Given the description of an element on the screen output the (x, y) to click on. 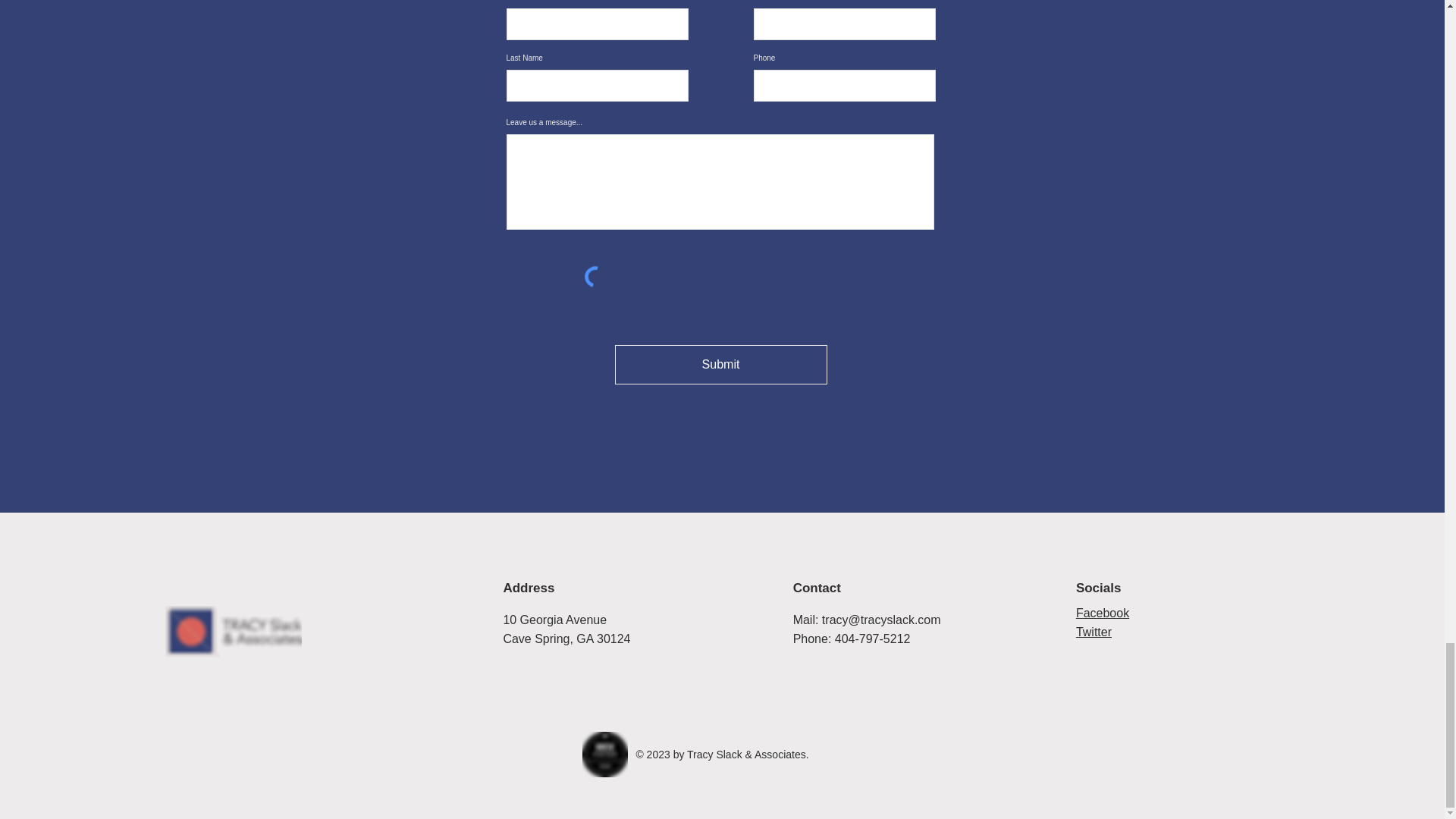
Facebook (1102, 612)
Twitter (1093, 631)
Submit (720, 364)
